Given the description of an element on the screen output the (x, y) to click on. 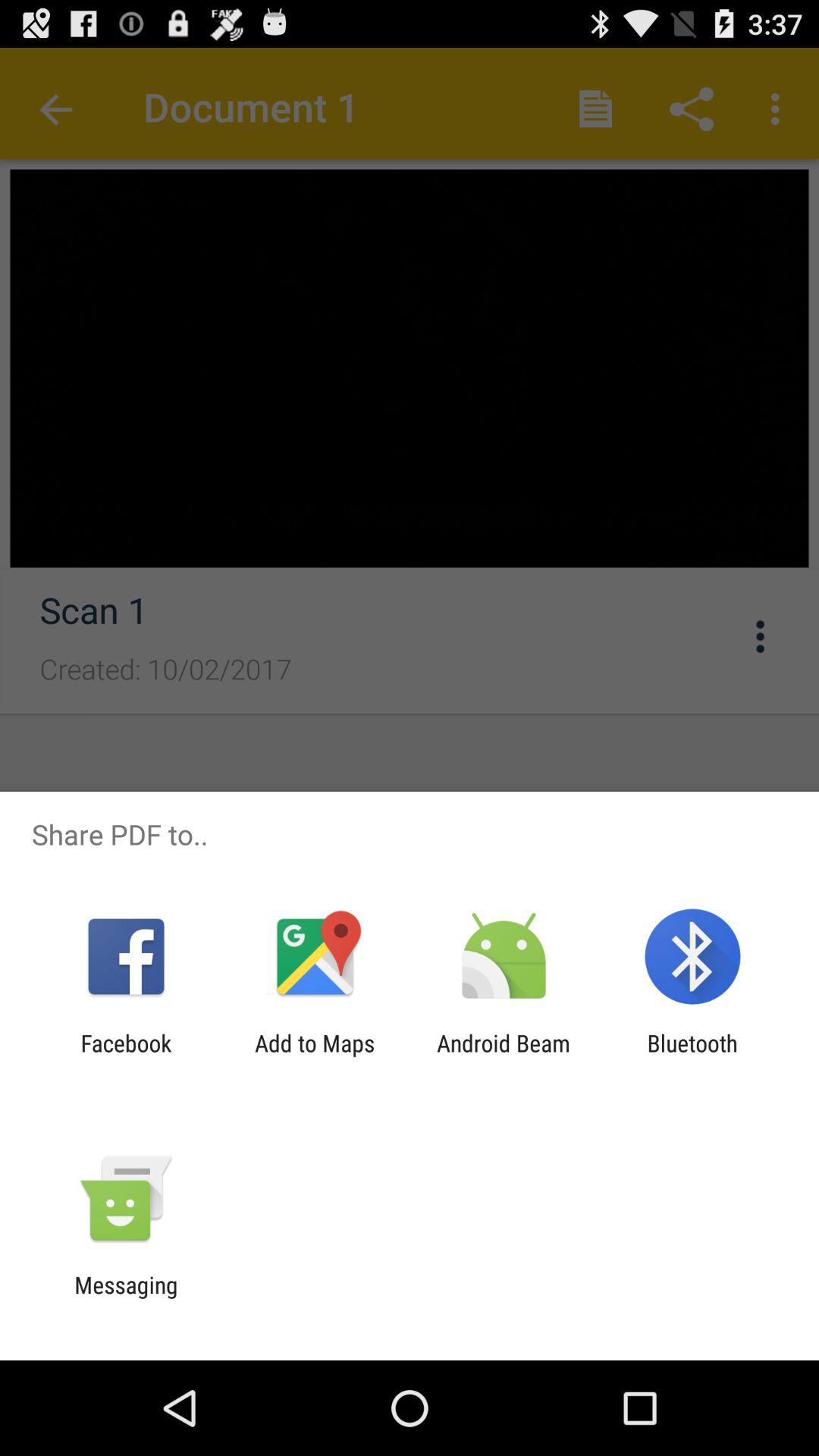
press the bluetooth (692, 1056)
